Given the description of an element on the screen output the (x, y) to click on. 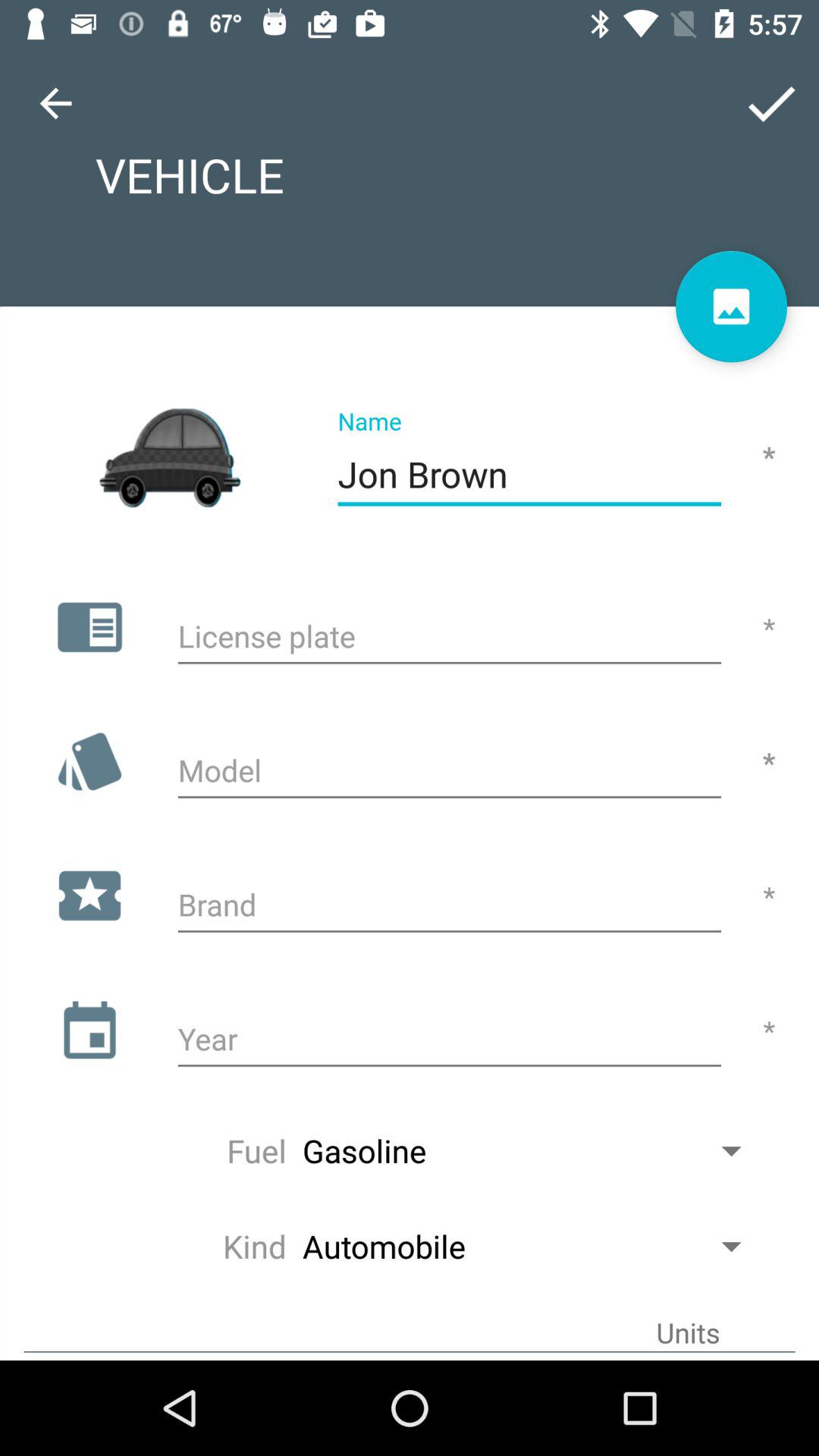
to show the picture (731, 306)
